Given the description of an element on the screen output the (x, y) to click on. 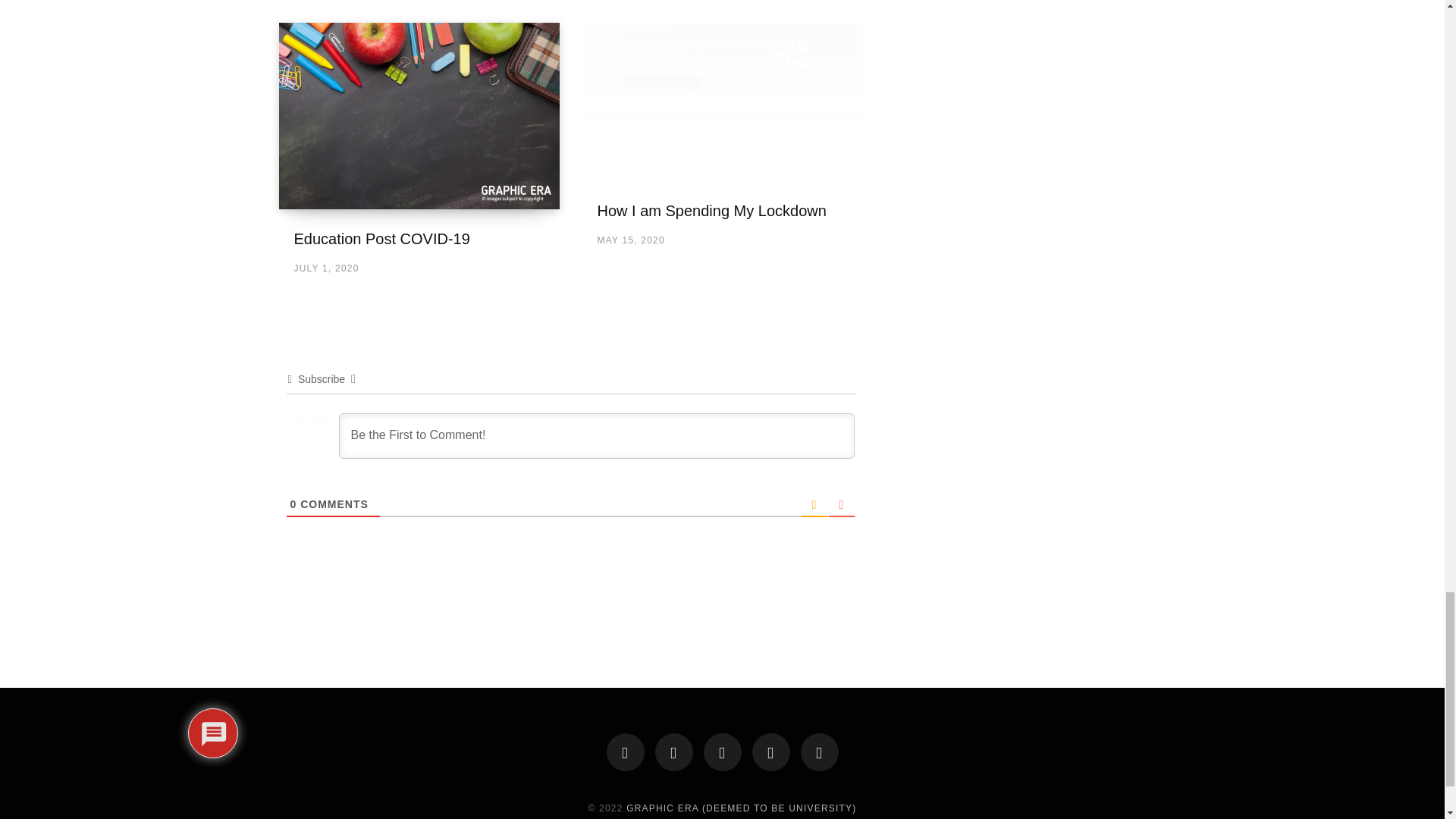
Education Post COVID-19 (382, 238)
How I am Spending My Lockdown (711, 210)
